Given the description of an element on the screen output the (x, y) to click on. 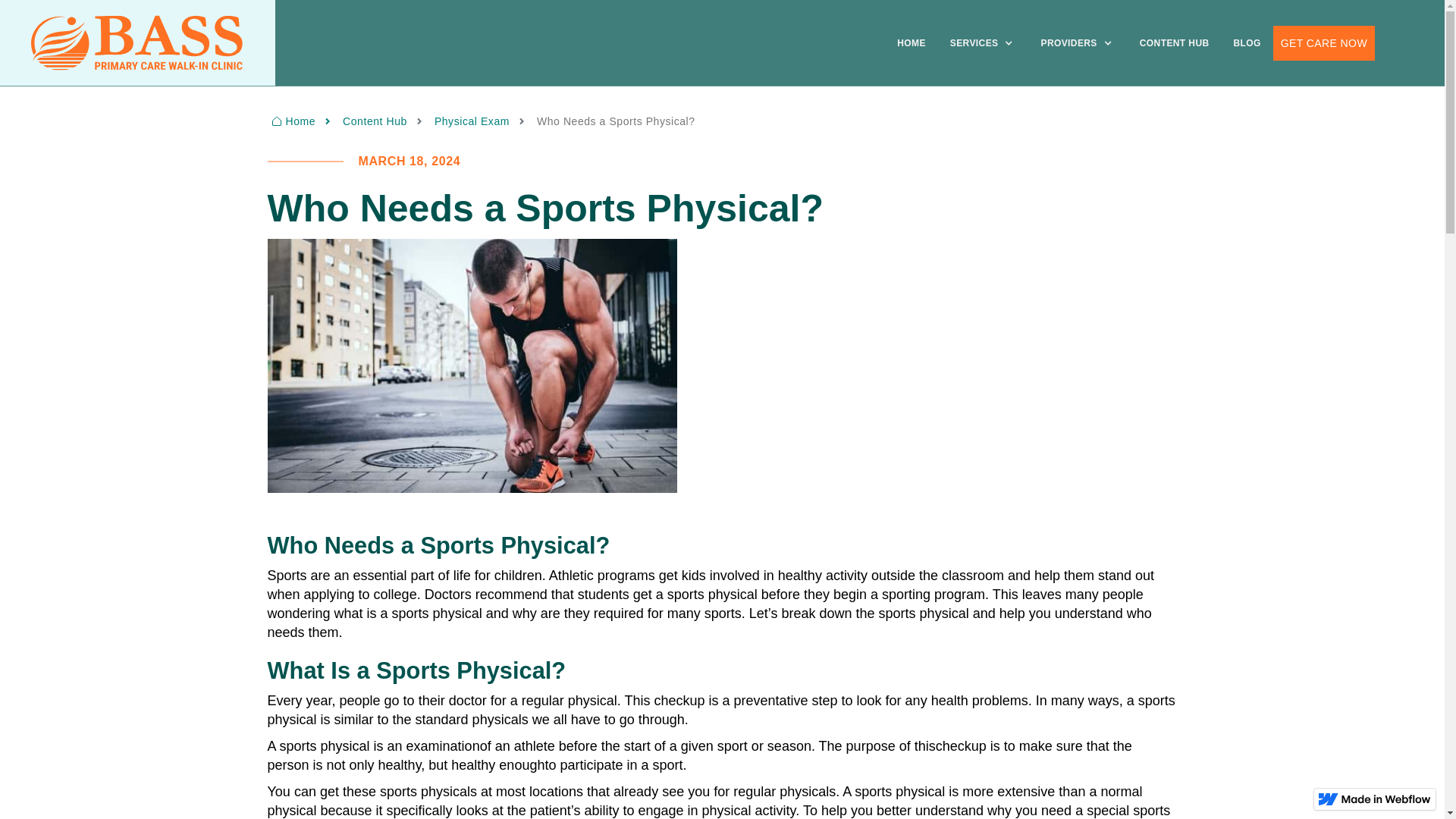
Home (302, 120)
CONTENT HUB (1173, 42)
HOME (911, 42)
GET CARE NOW (1323, 42)
BLOG (1246, 42)
Content Hub (385, 120)
Who Needs a Sports Physical? (616, 120)
Physical Exam (482, 120)
